Given the description of an element on the screen output the (x, y) to click on. 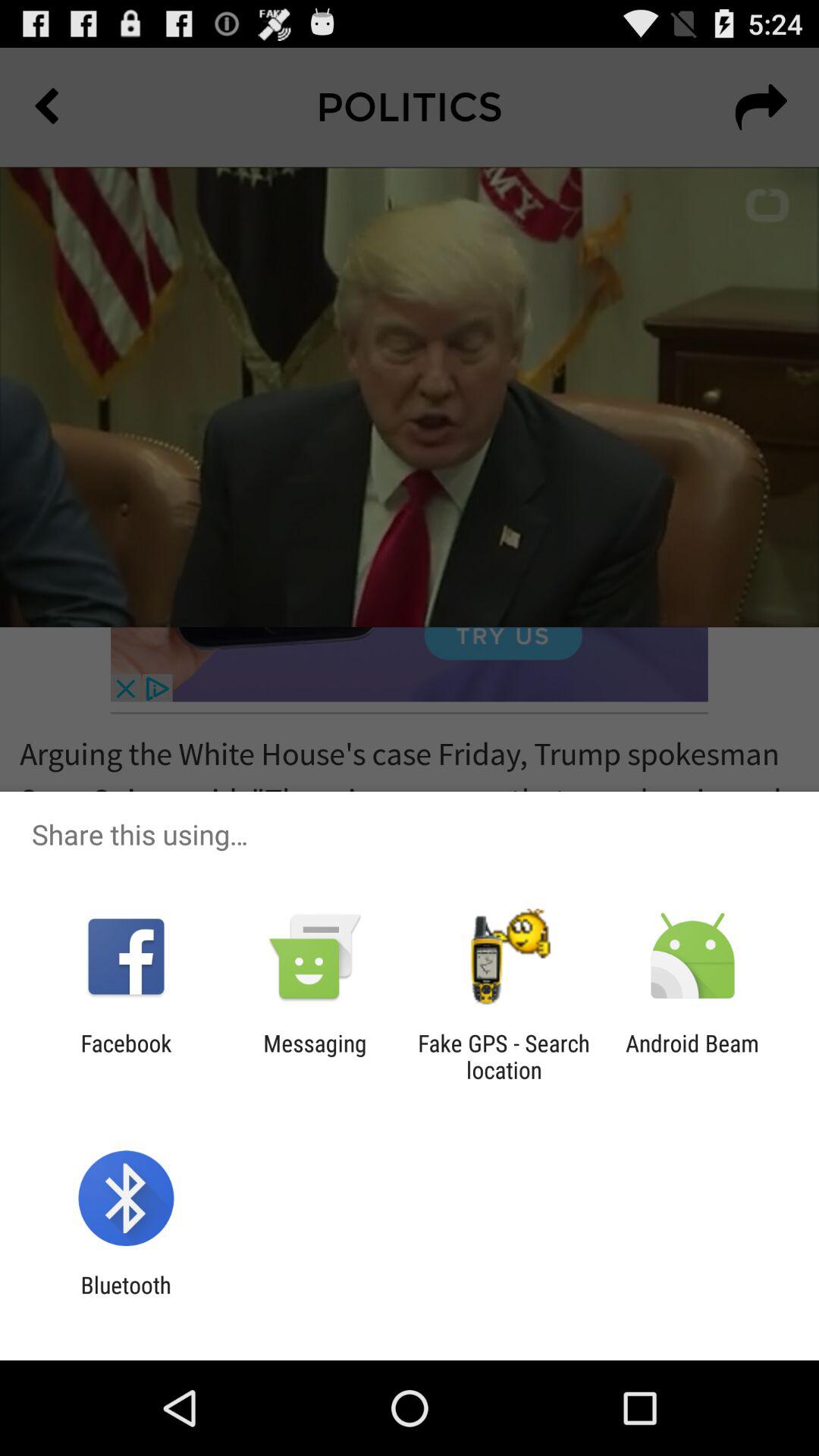
choose app next to facebook icon (314, 1056)
